Given the description of an element on the screen output the (x, y) to click on. 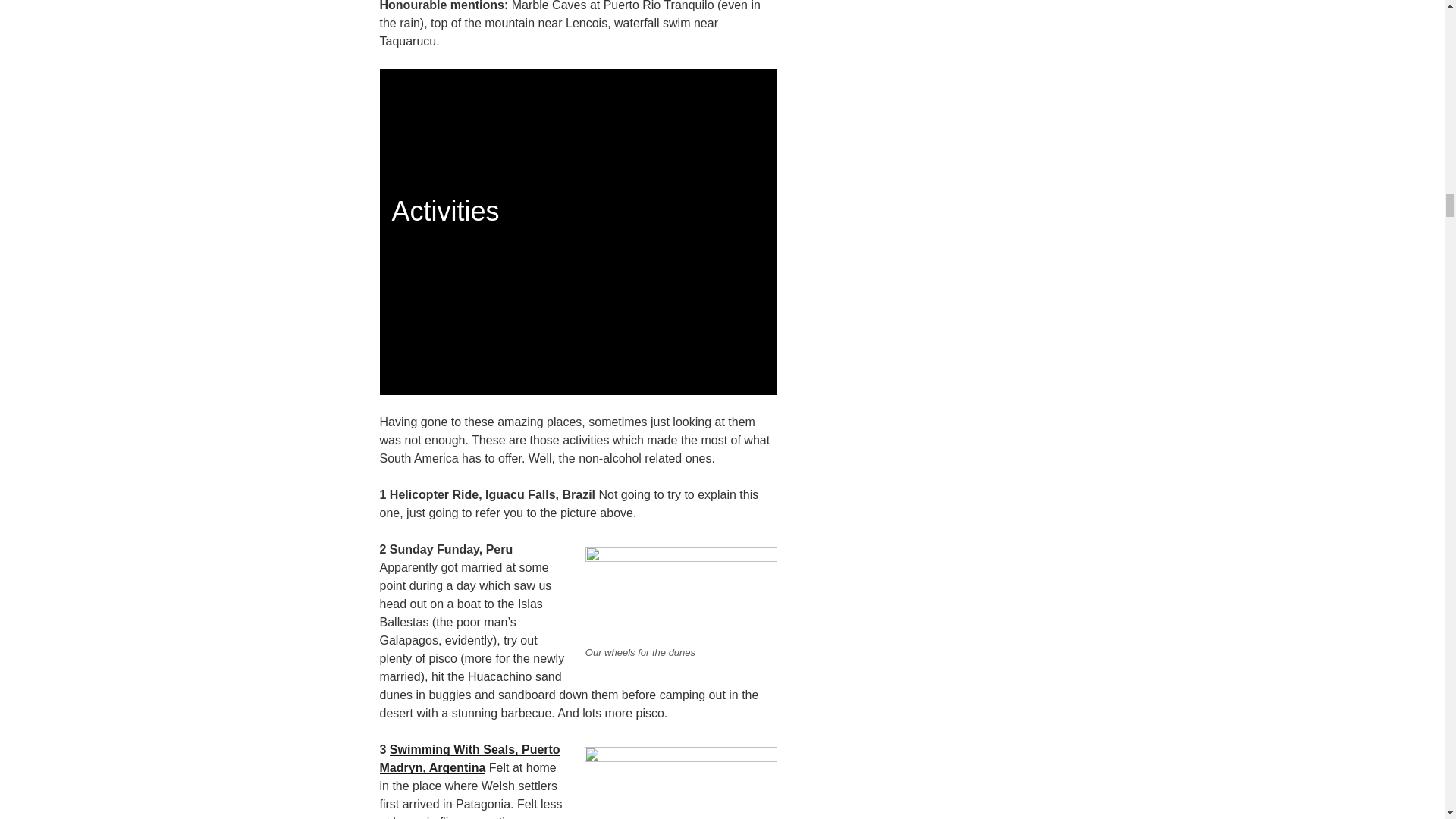
Swimming With Seals, Puerto Madryn, Argentina (468, 757)
